Given the description of an element on the screen output the (x, y) to click on. 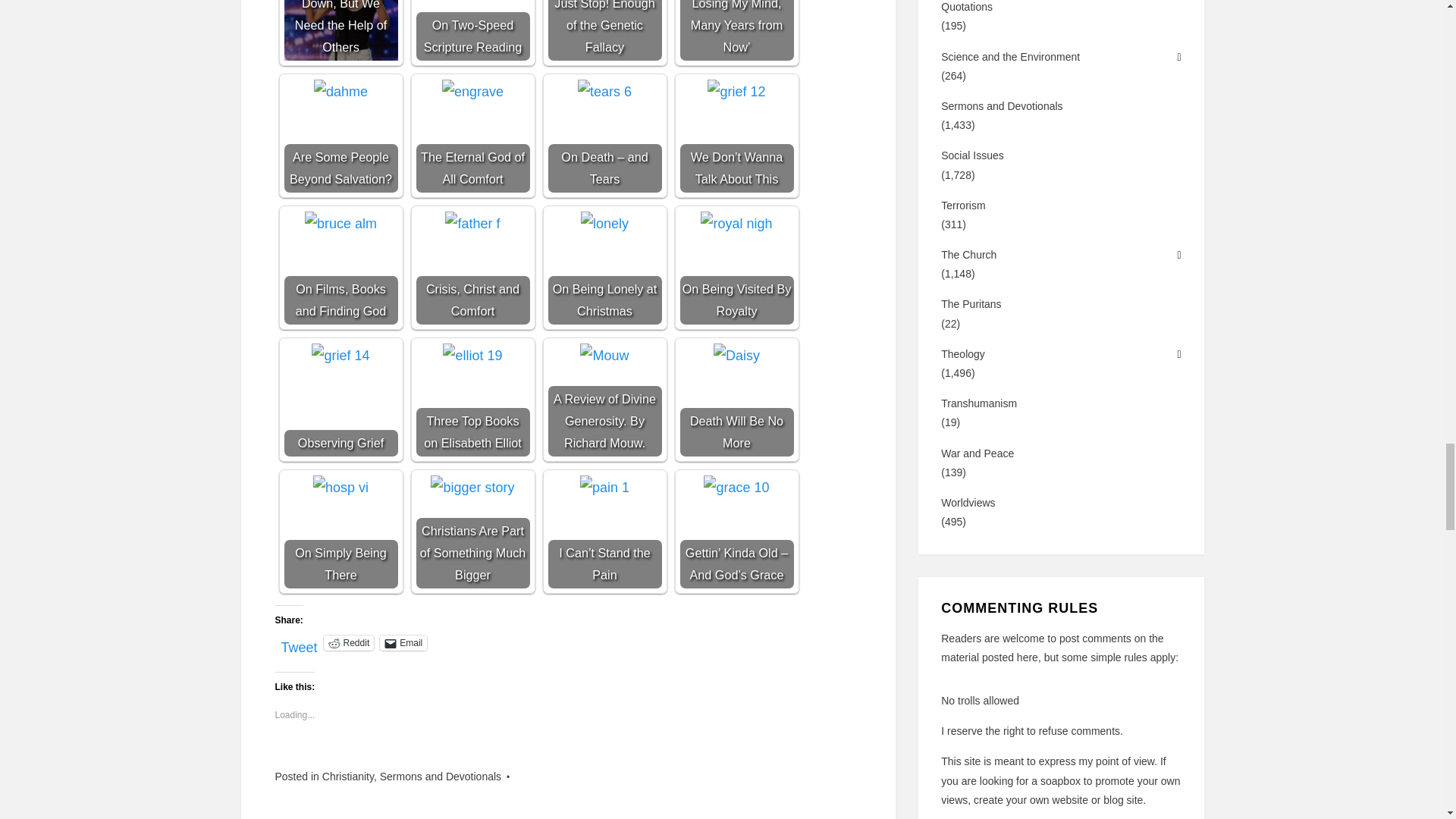
On Being Lonely at Christmas (604, 267)
On Being Visited By Royalty (736, 267)
Three Top Books on Elisabeth Elliot (471, 399)
On Two-Speed Scripture Reading (471, 30)
The Eternal God of All Comfort (472, 91)
On Films, Books and Finding God (340, 223)
Death Will Be No More (736, 399)
Email (403, 642)
Just Stop! Enough of the Genetic Fallacy (604, 30)
A Review of Divine Generosity. By Richard Mouw. (604, 399)
Are Some People Beyond Salvation? (341, 91)
Are Some People Beyond Salvation? (340, 135)
On Being Lonely at Christmas (604, 223)
On Being Visited By Royalty (735, 223)
Reddit (348, 642)
